Given the description of an element on the screen output the (x, y) to click on. 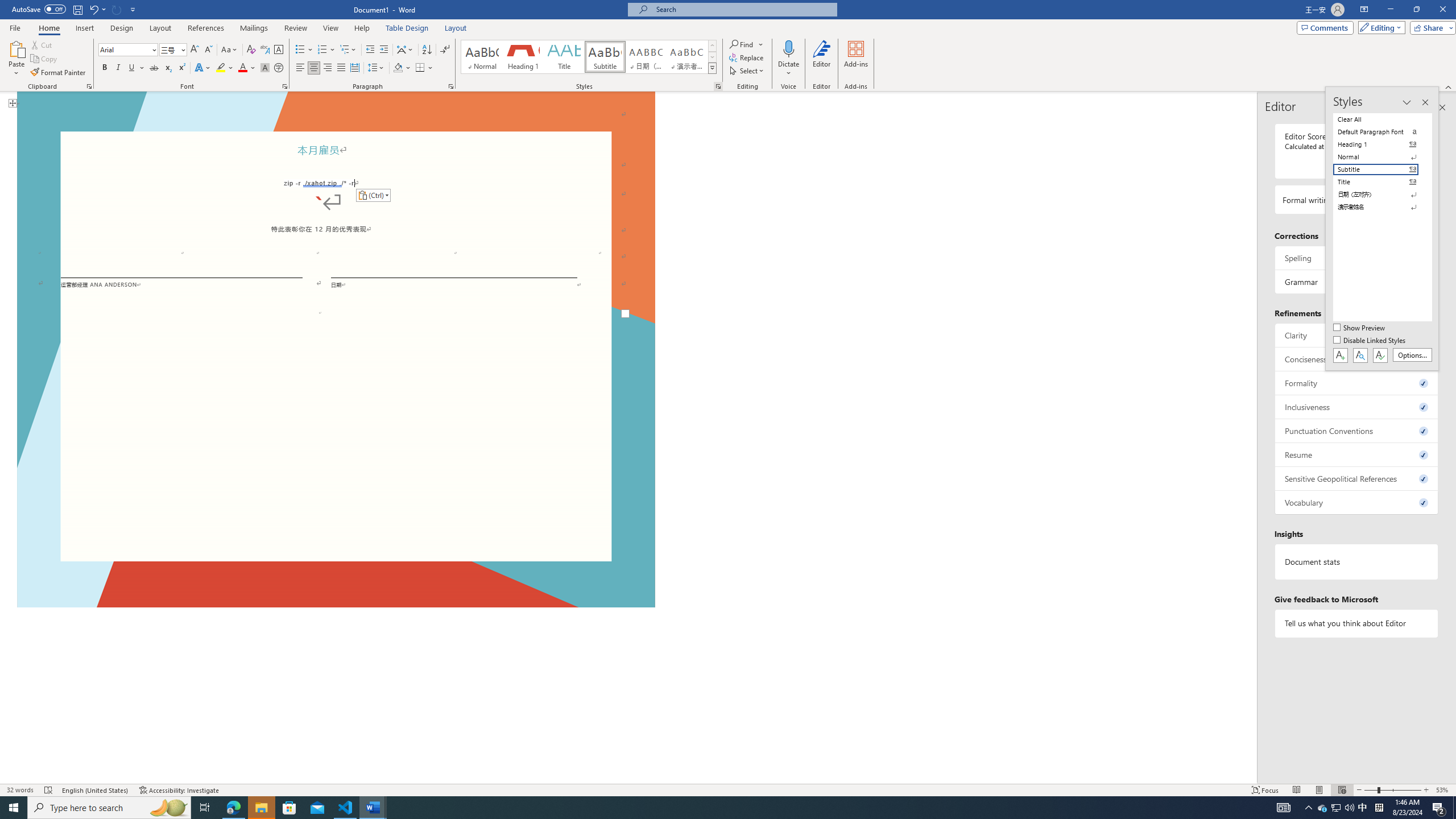
Zoom 53% (1443, 790)
Conciseness, 0 issues. Press space or enter to review items. (1356, 359)
Title (564, 56)
